Given the description of an element on the screen output the (x, y) to click on. 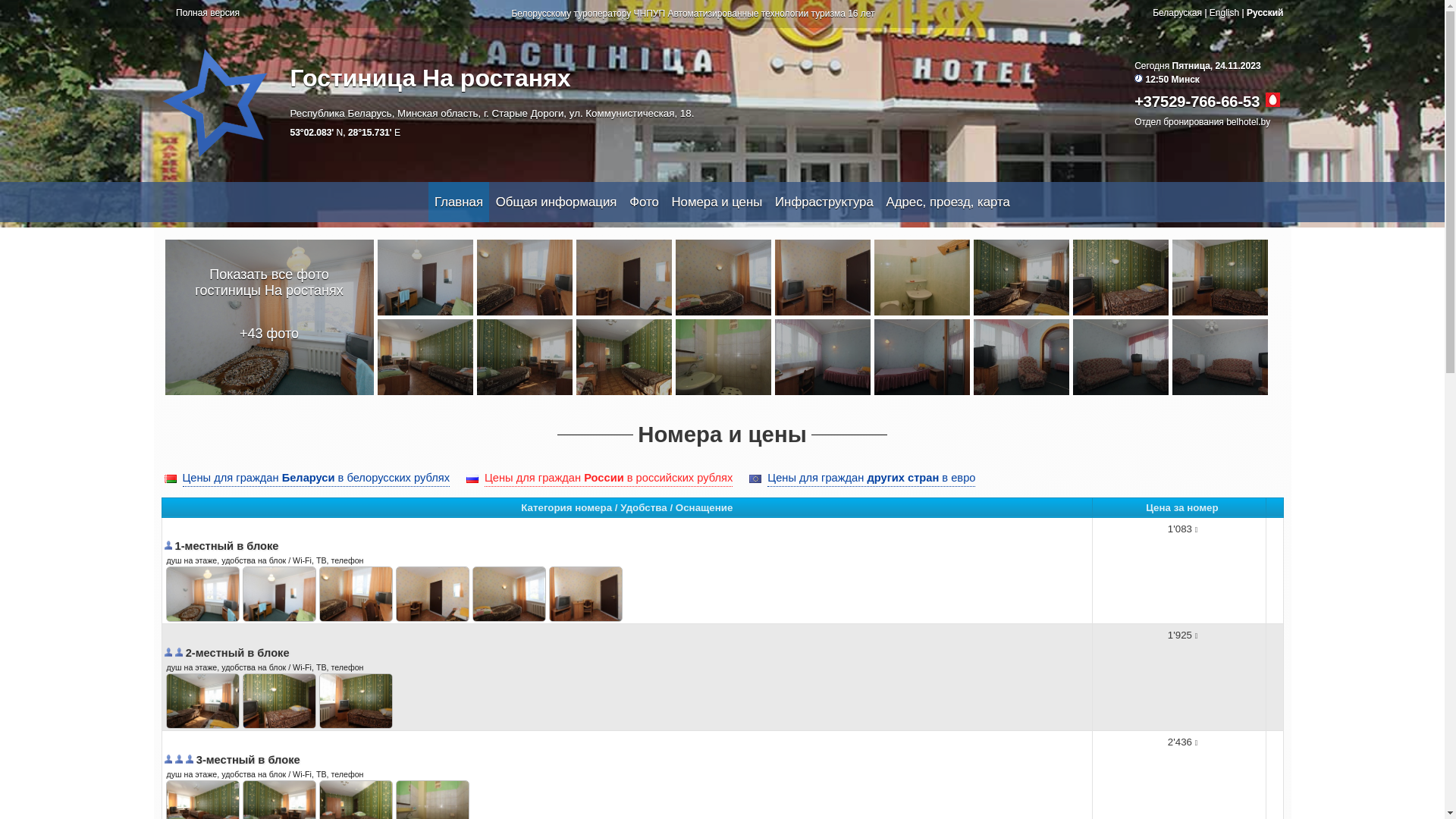
English Element type: text (1224, 12)
+37529-766-66-53 Element type: text (1196, 101)
